Given the description of an element on the screen output the (x, y) to click on. 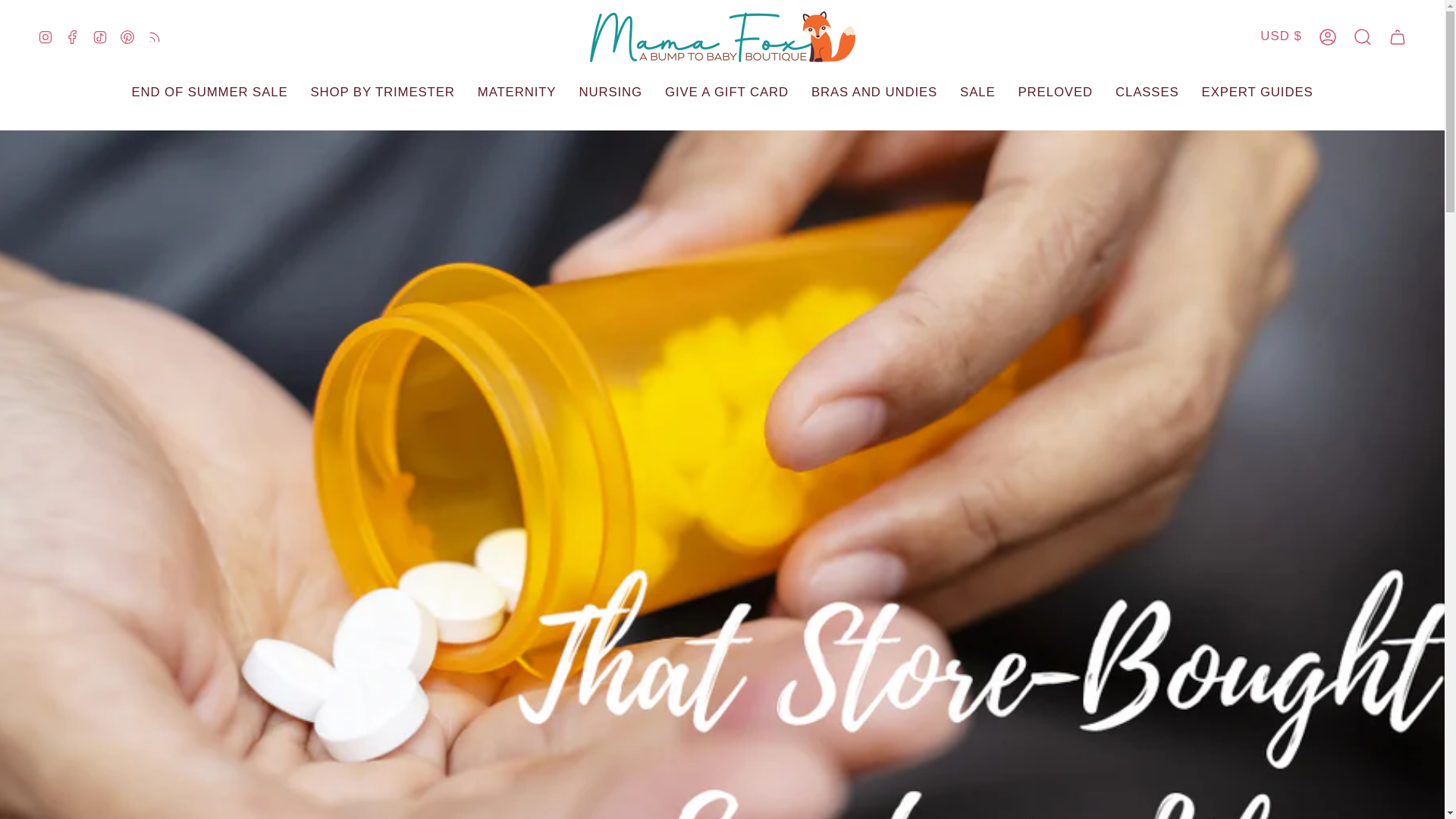
MATERNITY (516, 92)
END OF SUMMER SALE (208, 92)
SHOP BY TRIMESTER (382, 92)
